Given the description of an element on the screen output the (x, y) to click on. 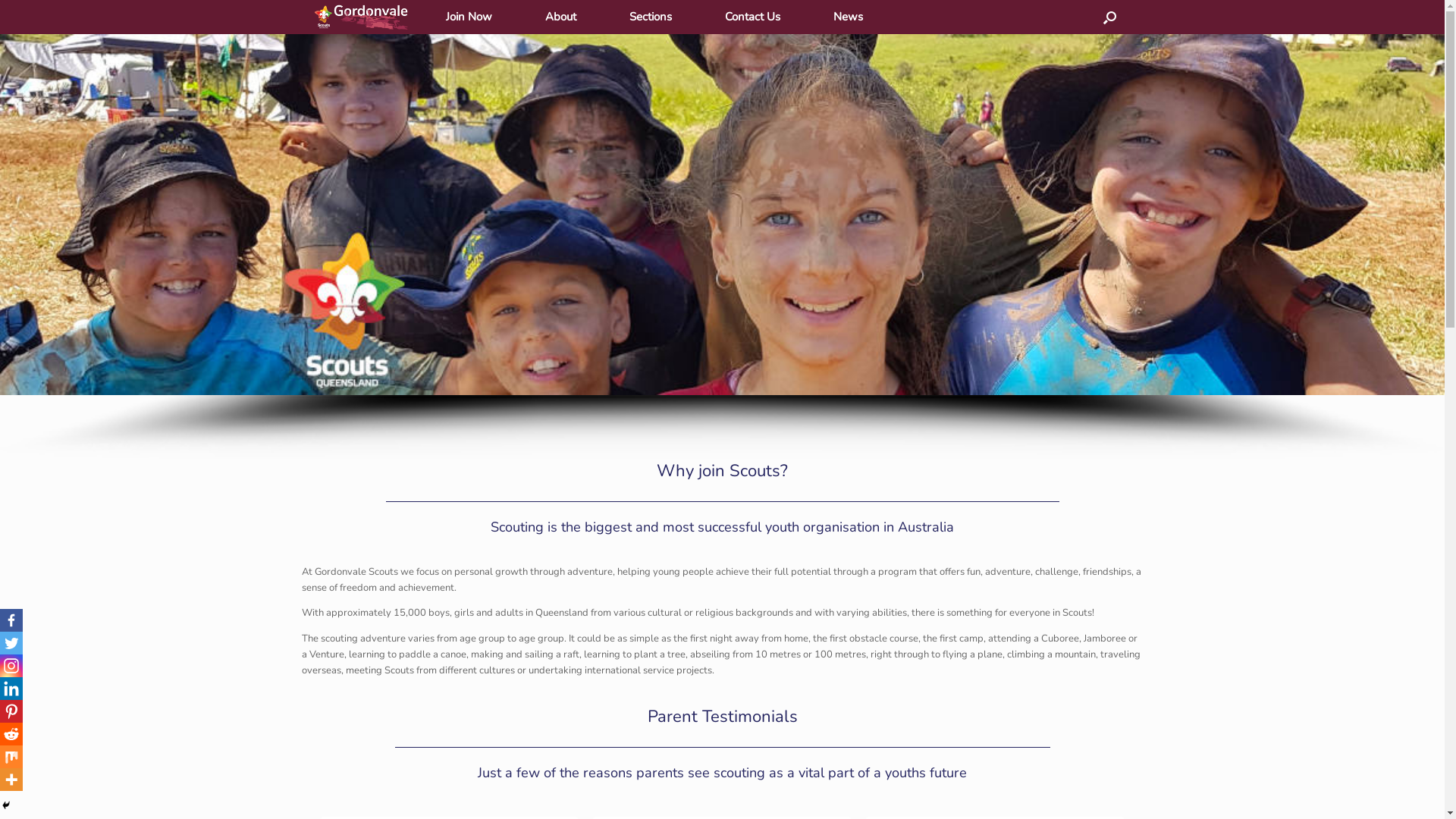
Contact Us Element type: text (752, 17)
About Element type: text (560, 17)
Reddit Element type: hover (11, 733)
News Element type: text (847, 17)
Instagram Element type: hover (11, 665)
Twitter Element type: hover (11, 642)
Pinterest Element type: hover (11, 710)
Hide Element type: hover (6, 805)
Gordonvale Scout Group Element type: hover (359, 16)
Facebook Element type: hover (11, 619)
Join Now Element type: text (468, 17)
Sections Element type: text (650, 17)
Mix Element type: hover (11, 756)
More Element type: hover (11, 779)
Linkedin Element type: hover (11, 688)
